Given the description of an element on the screen output the (x, y) to click on. 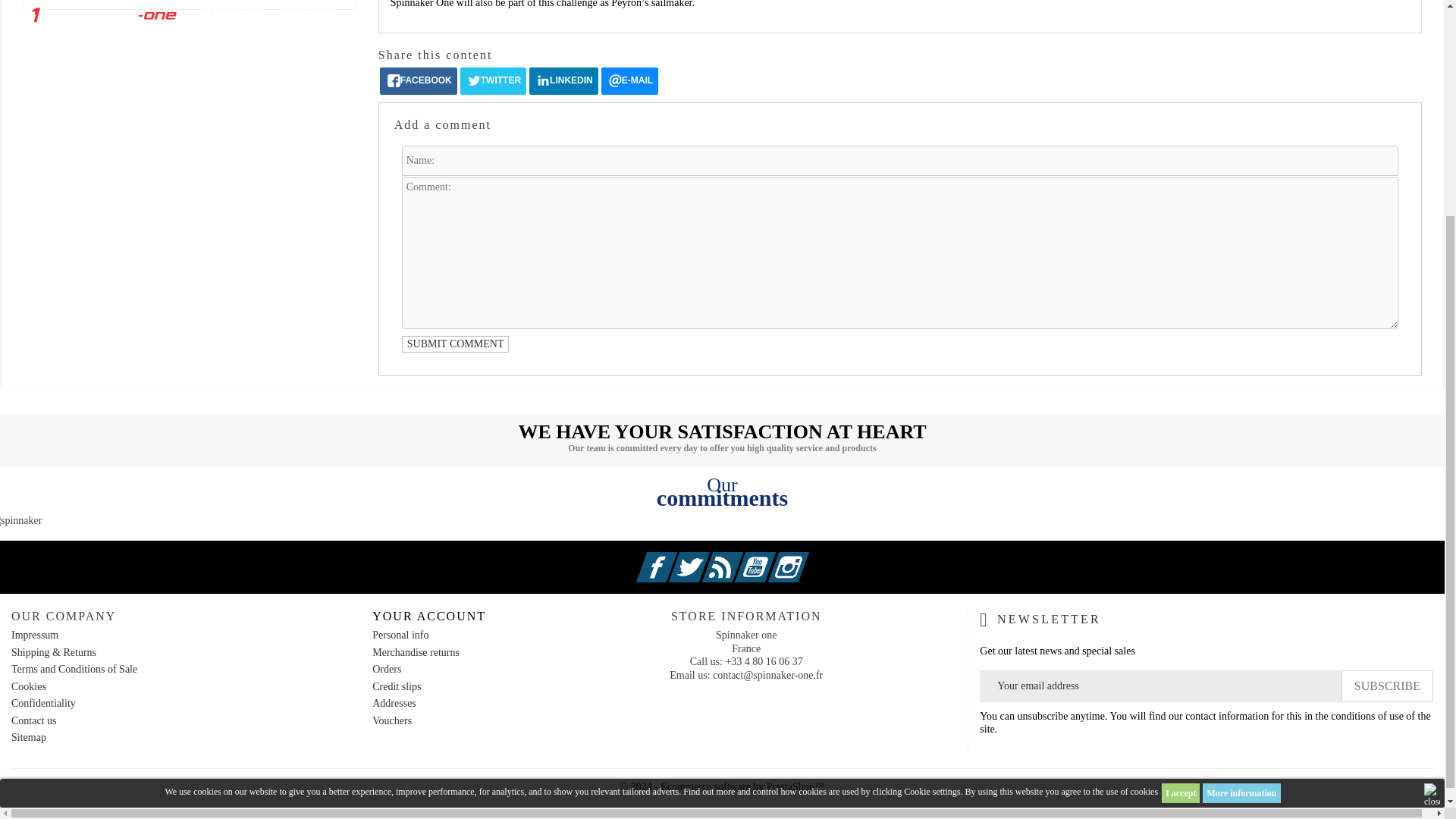
Credit slips (396, 686)
Use our form to contact us (33, 720)
Addresses (394, 703)
More information (1240, 504)
Vouchers (392, 720)
Our terms and shipping conditions (53, 652)
Orders (386, 668)
Confidentiality (43, 703)
Lost ? Find what you are looking for (28, 737)
Subscribe (1386, 685)
Submit comment (455, 343)
Personal info (400, 634)
Merchandise returns (416, 652)
